Given the description of an element on the screen output the (x, y) to click on. 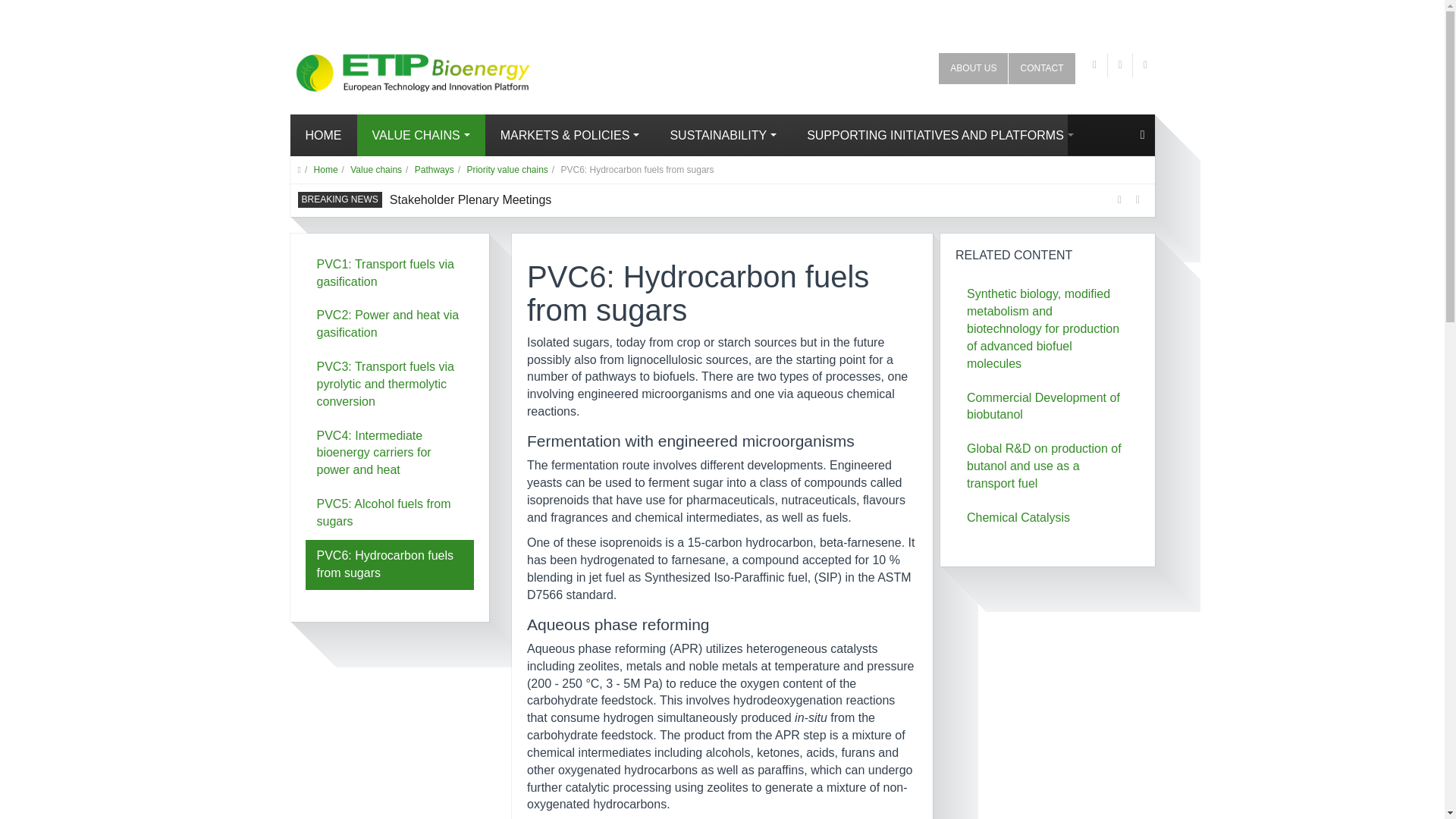
ABOUT US (973, 68)
Twitter (1094, 64)
CONTACT (1041, 68)
Linkedin (1144, 64)
ETIP Bioenergy-SABS (384, 66)
YouTube (1120, 64)
